Given the description of an element on the screen output the (x, y) to click on. 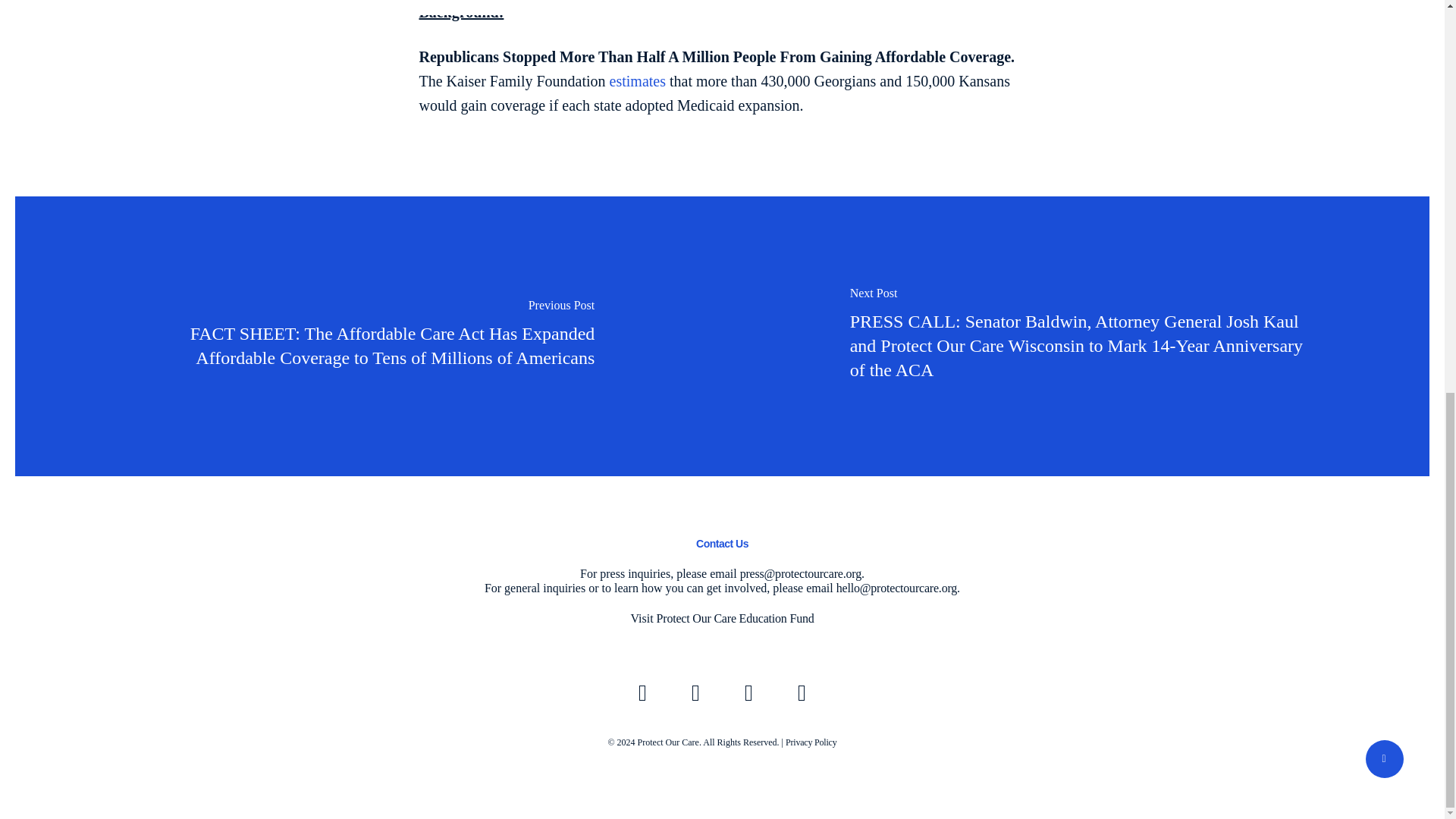
instagram (802, 693)
estimates (637, 80)
youtube (748, 693)
facebook (695, 693)
Protect Our Care Education Fund (734, 617)
twitter (642, 693)
